Given the description of an element on the screen output the (x, y) to click on. 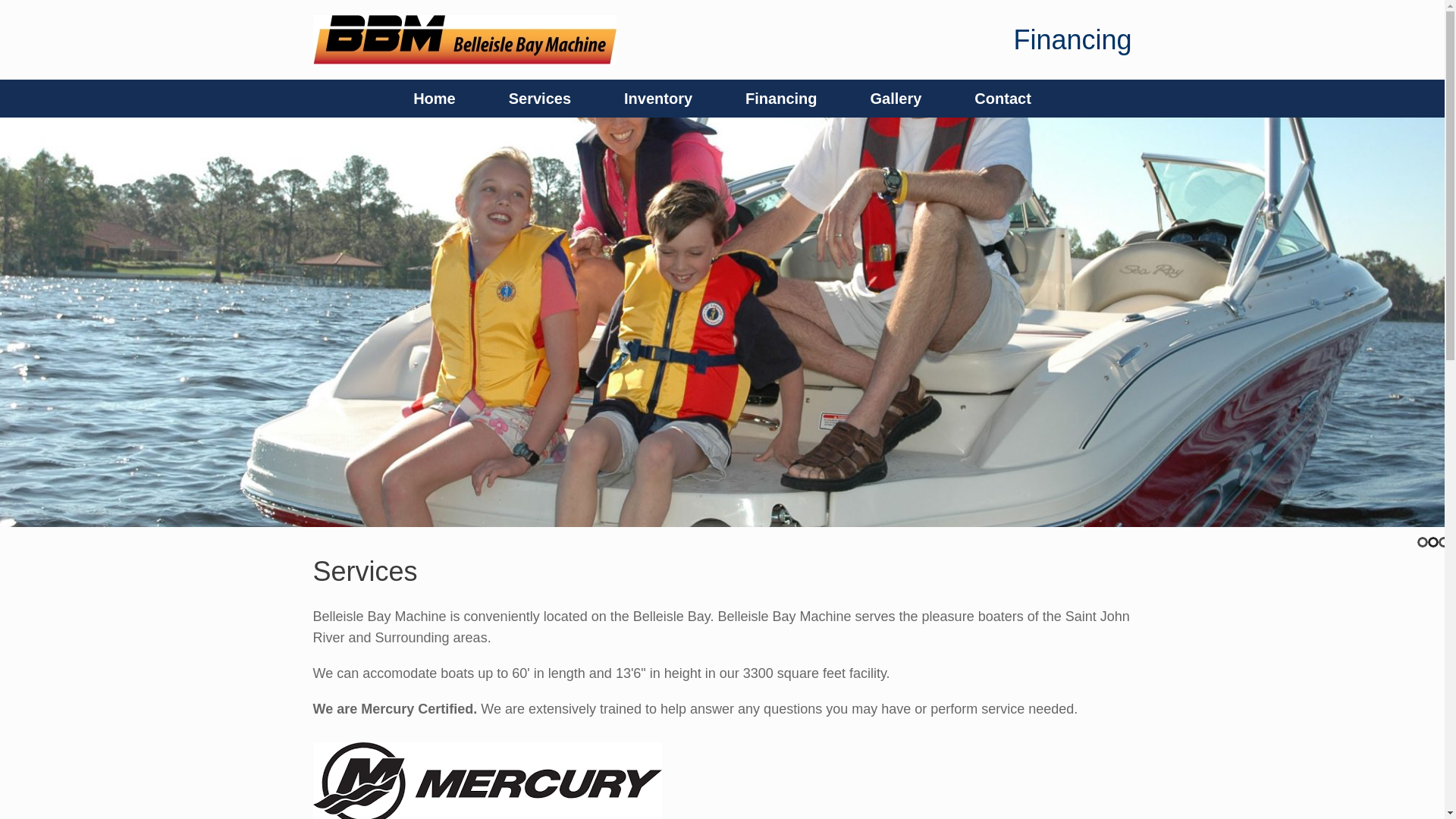
3 Element type: text (1443, 541)
Services Element type: text (539, 98)
1 Element type: text (1422, 541)
2 Element type: text (1432, 541)
Inventory Element type: text (657, 98)
Financing Element type: text (1072, 39)
Belleisle Bay Machine Element type: hover (463, 39)
Home Element type: text (434, 98)
Contact Element type: text (1002, 98)
Gallery Element type: text (896, 98)
Financing Element type: text (780, 98)
